Given the description of an element on the screen output the (x, y) to click on. 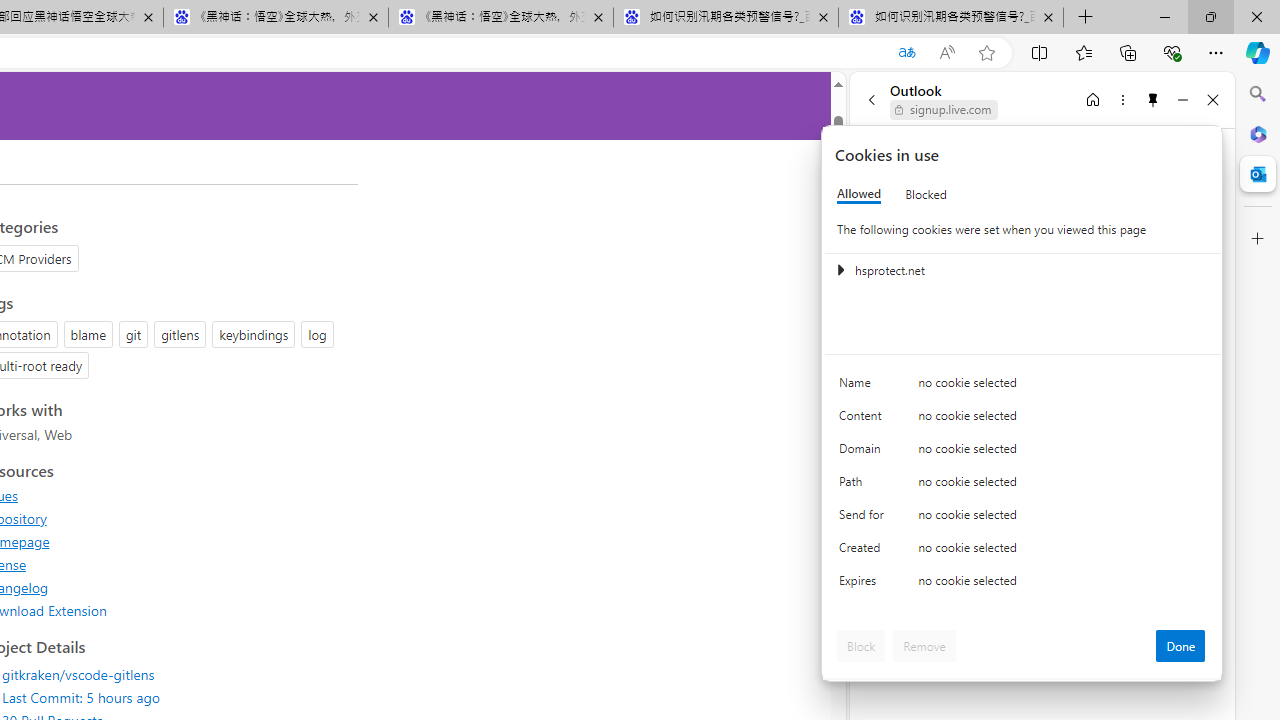
Created (864, 552)
Send for (864, 518)
Block (861, 645)
Done (1179, 645)
Remove (924, 645)
Class: c0153 c0157 (1023, 584)
no cookie selected (1062, 585)
Content (864, 420)
Blocked (925, 193)
Allowed (859, 193)
Name (864, 387)
Domain (864, 452)
Path (864, 485)
Expires (864, 585)
Class: c0153 c0157 c0154 (1023, 386)
